Given the description of an element on the screen output the (x, y) to click on. 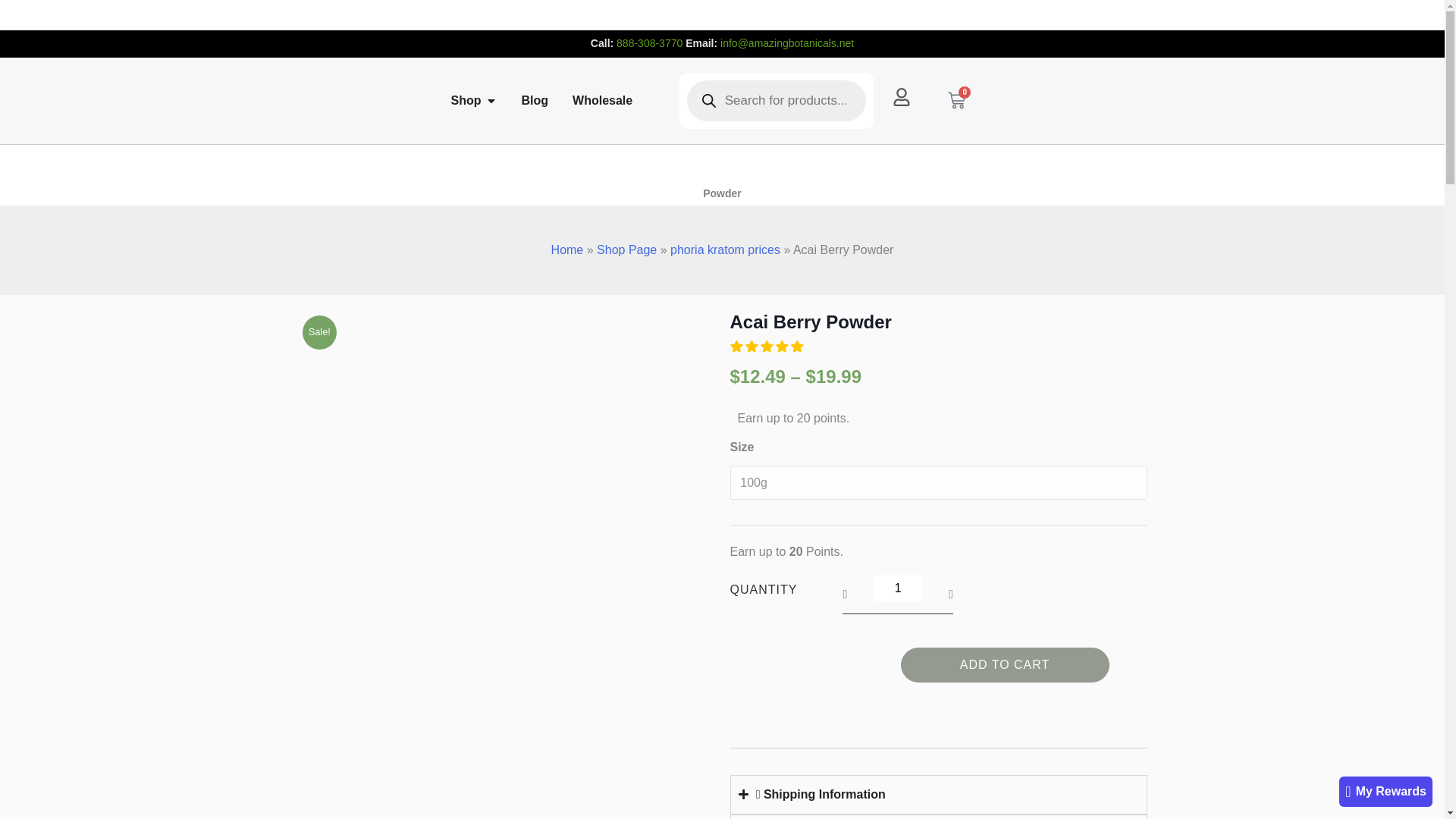
1 (897, 587)
Shop (464, 100)
888-308-3770 (648, 42)
